Given the description of an element on the screen output the (x, y) to click on. 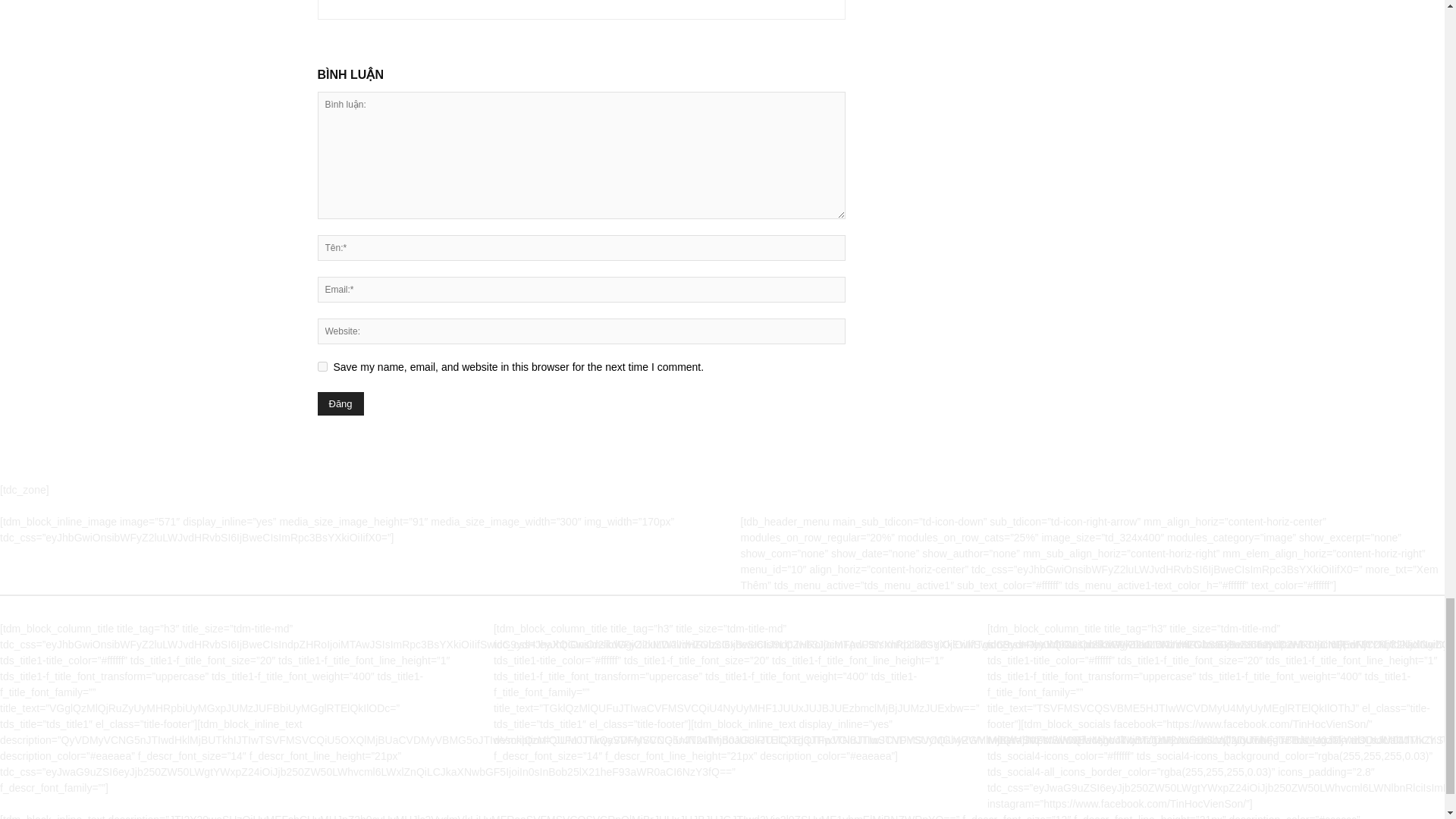
yes (321, 366)
